Given the description of an element on the screen output the (x, y) to click on. 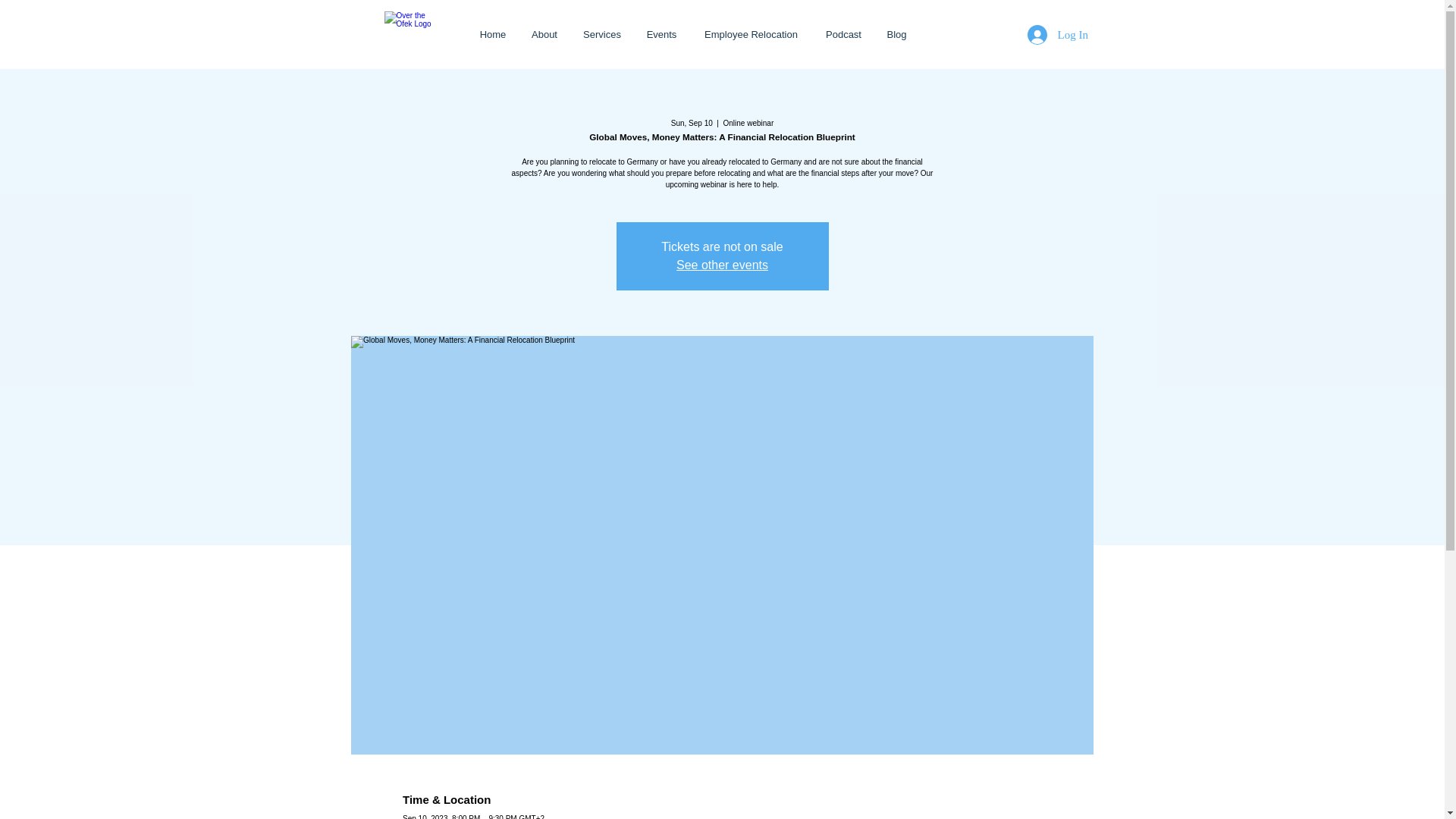
Events (661, 34)
Log In (1044, 34)
Podcast (843, 34)
Employee Relocation (751, 34)
Blog (896, 34)
About (544, 34)
Services (601, 34)
Home (492, 34)
See other events (722, 264)
